Given the description of an element on the screen output the (x, y) to click on. 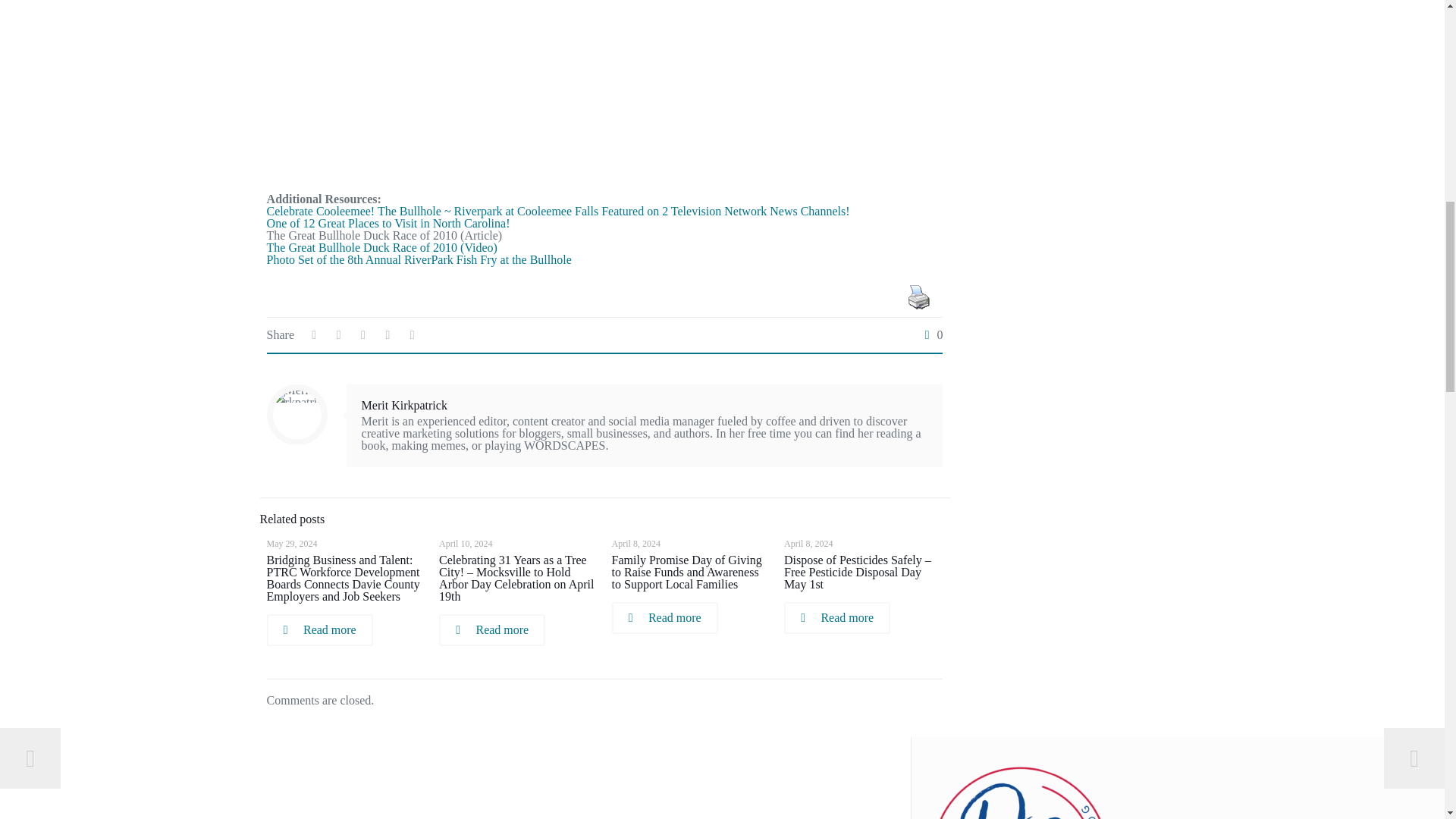
Read more (319, 630)
One of 12 Great Places to Visit in North Carolina! (388, 223)
Print Content (918, 296)
Merit Kirkpatrick (403, 404)
0 (930, 335)
